Given the description of an element on the screen output the (x, y) to click on. 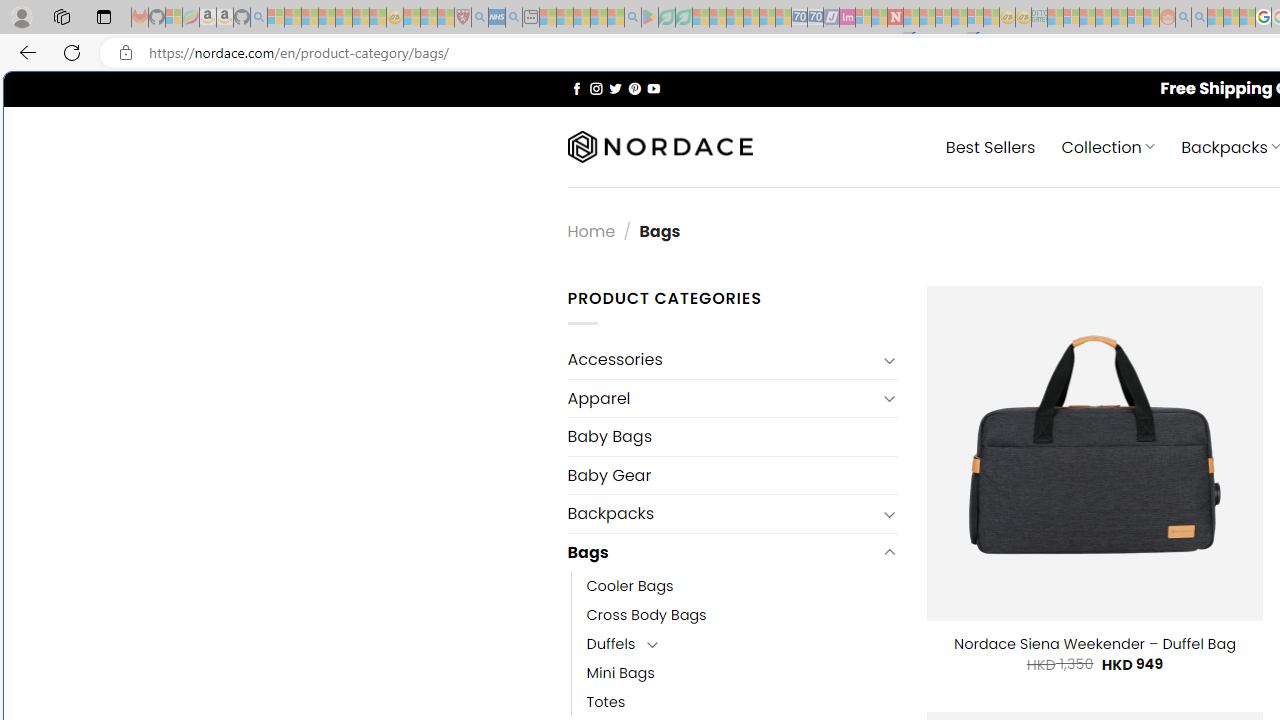
  Best Sellers (989, 146)
Cooler Bags (742, 585)
